Given the description of an element on the screen output the (x, y) to click on. 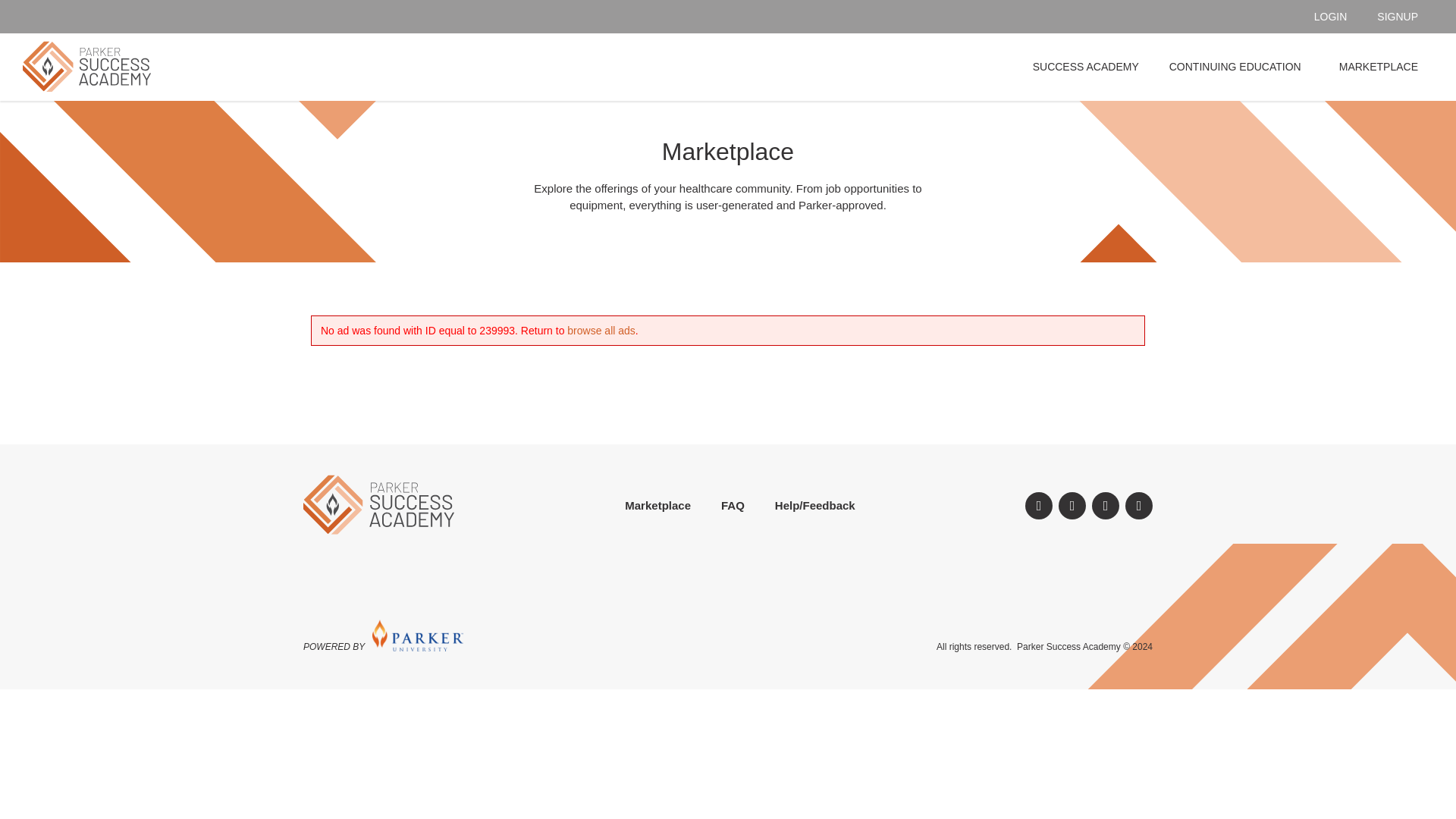
Marketplace (658, 505)
LOGIN (1331, 16)
SIGNUP (1397, 16)
FAQ (733, 505)
CONTINUING EDUCATION (1238, 66)
SUCCESS ACADEMY (1085, 66)
MARKETPLACE (1377, 66)
browse all ads (600, 330)
